Given the description of an element on the screen output the (x, y) to click on. 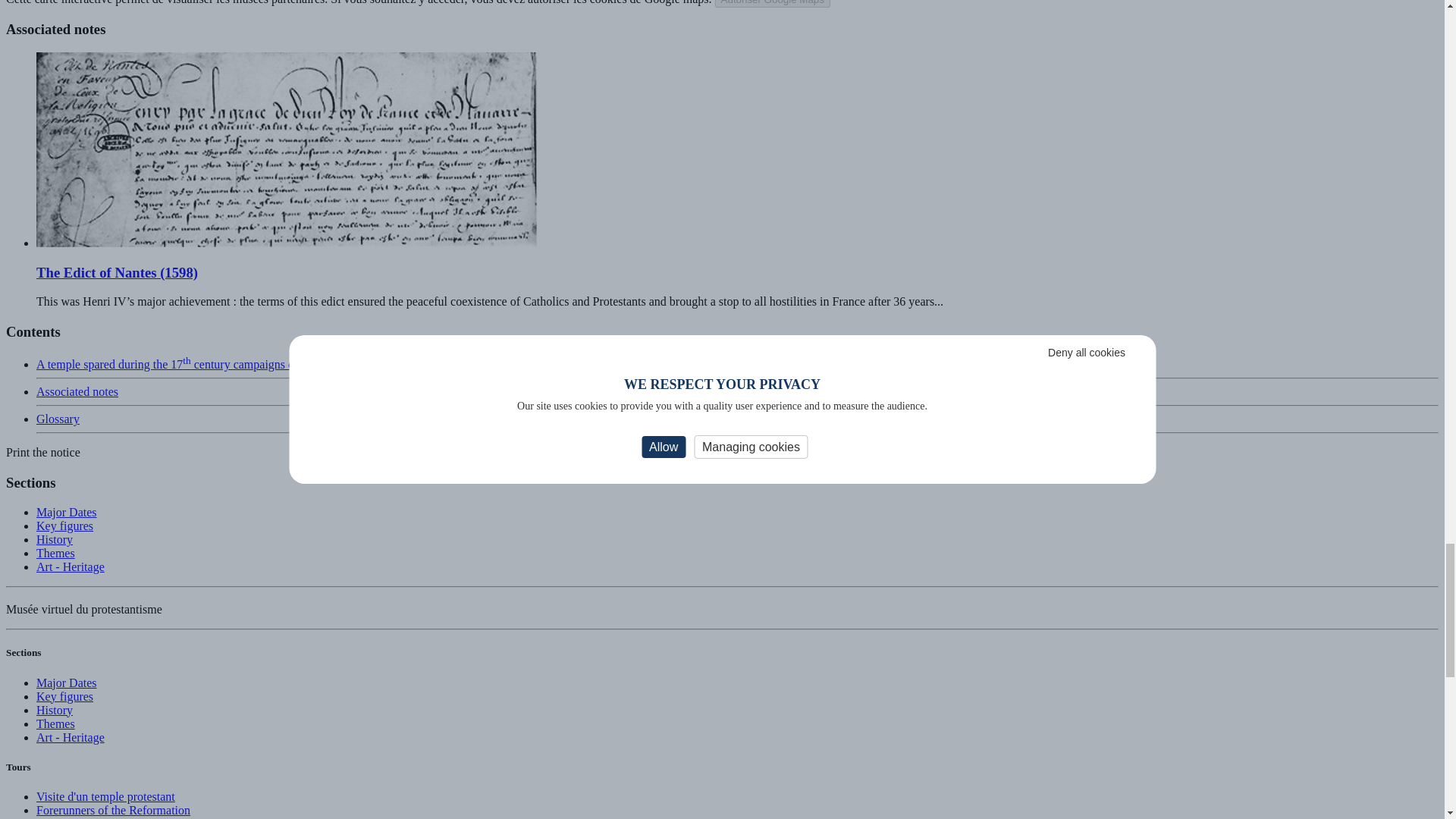
Print (42, 451)
